Given the description of an element on the screen output the (x, y) to click on. 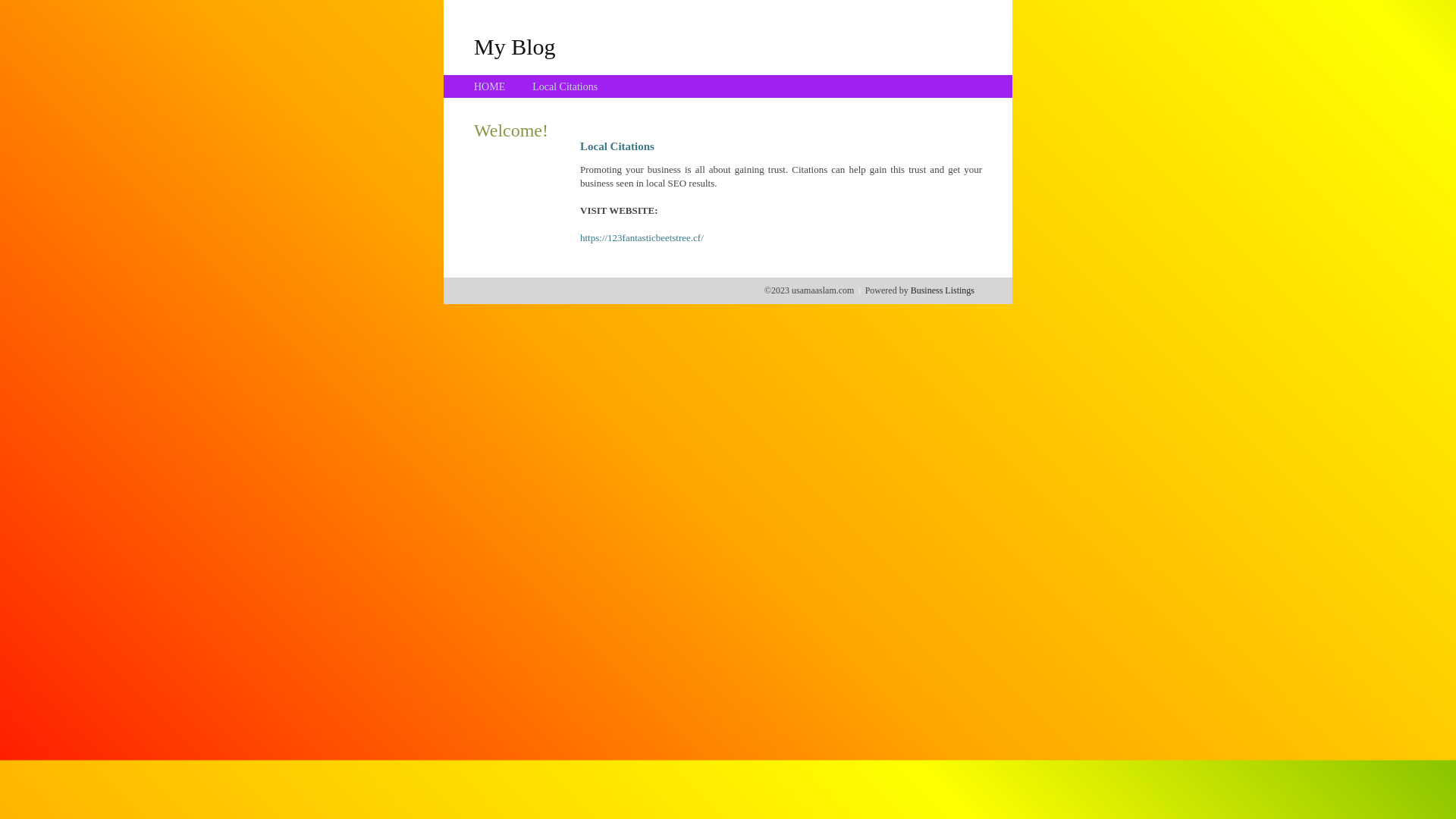
Business Listings Element type: text (942, 290)
Local Citations Element type: text (564, 86)
HOME Element type: text (489, 86)
My Blog Element type: text (514, 46)
https://123fantasticbeetstree.cf/ Element type: text (641, 237)
